Given the description of an element on the screen output the (x, y) to click on. 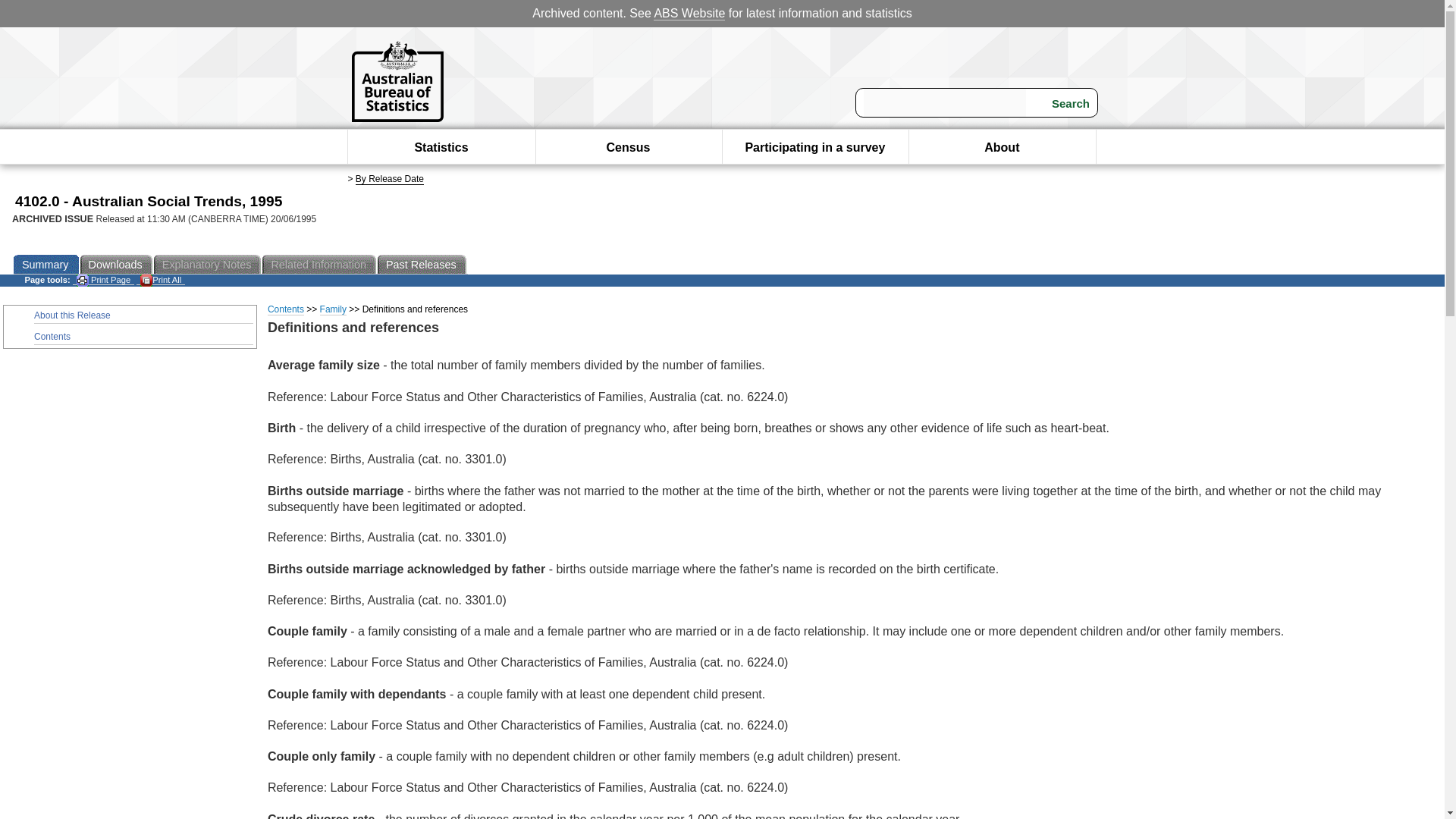
Statistics (440, 147)
ABS Website (689, 13)
Participating in a survey (814, 147)
Downloads (117, 264)
Contents (285, 309)
By Release Date (389, 179)
Search (1060, 102)
Explanatory Notes (208, 264)
Contents (143, 337)
About this Release (143, 315)
